Given the description of an element on the screen output the (x, y) to click on. 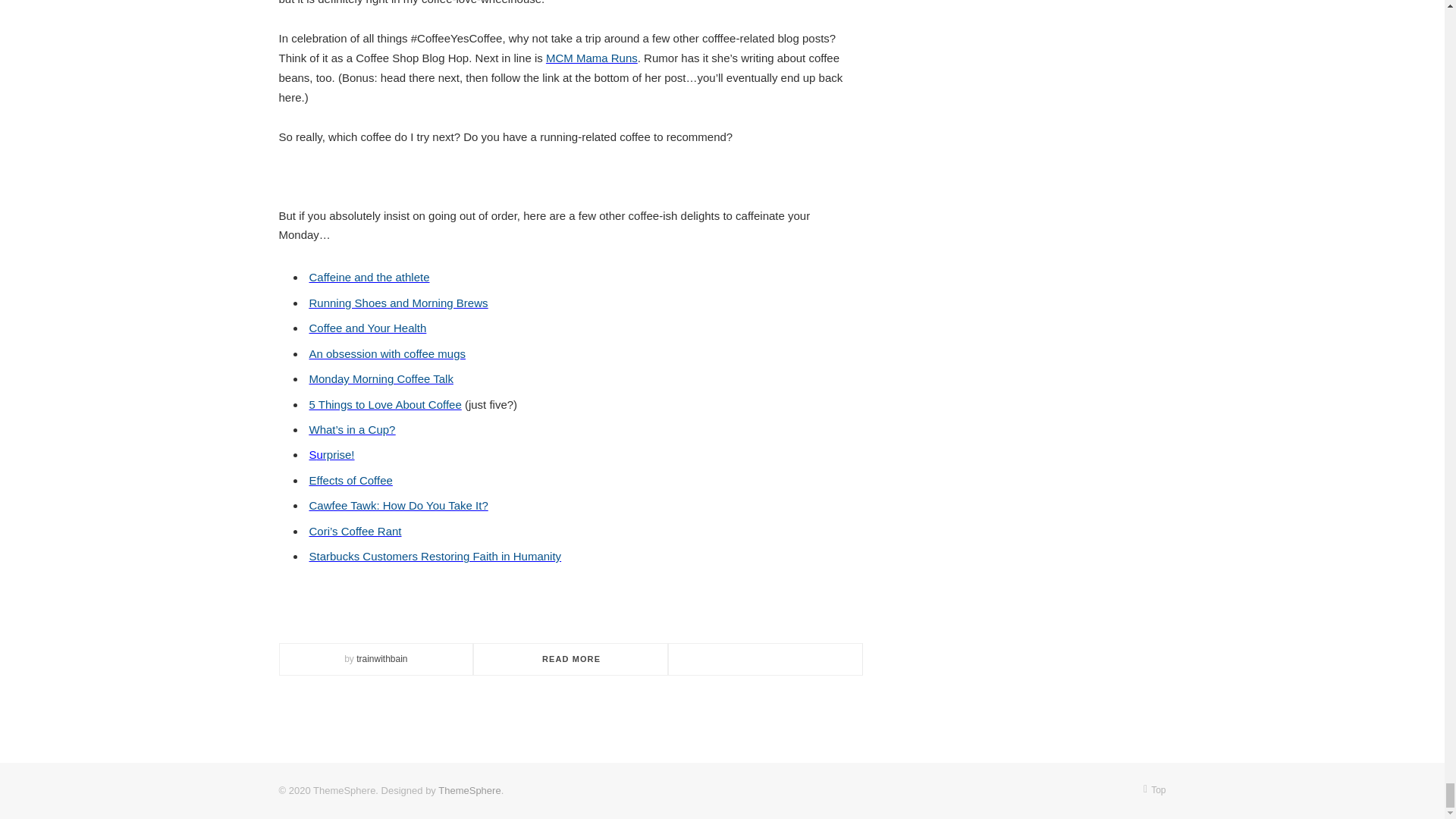
Posts by trainwithbain (381, 658)
